Given the description of an element on the screen output the (x, y) to click on. 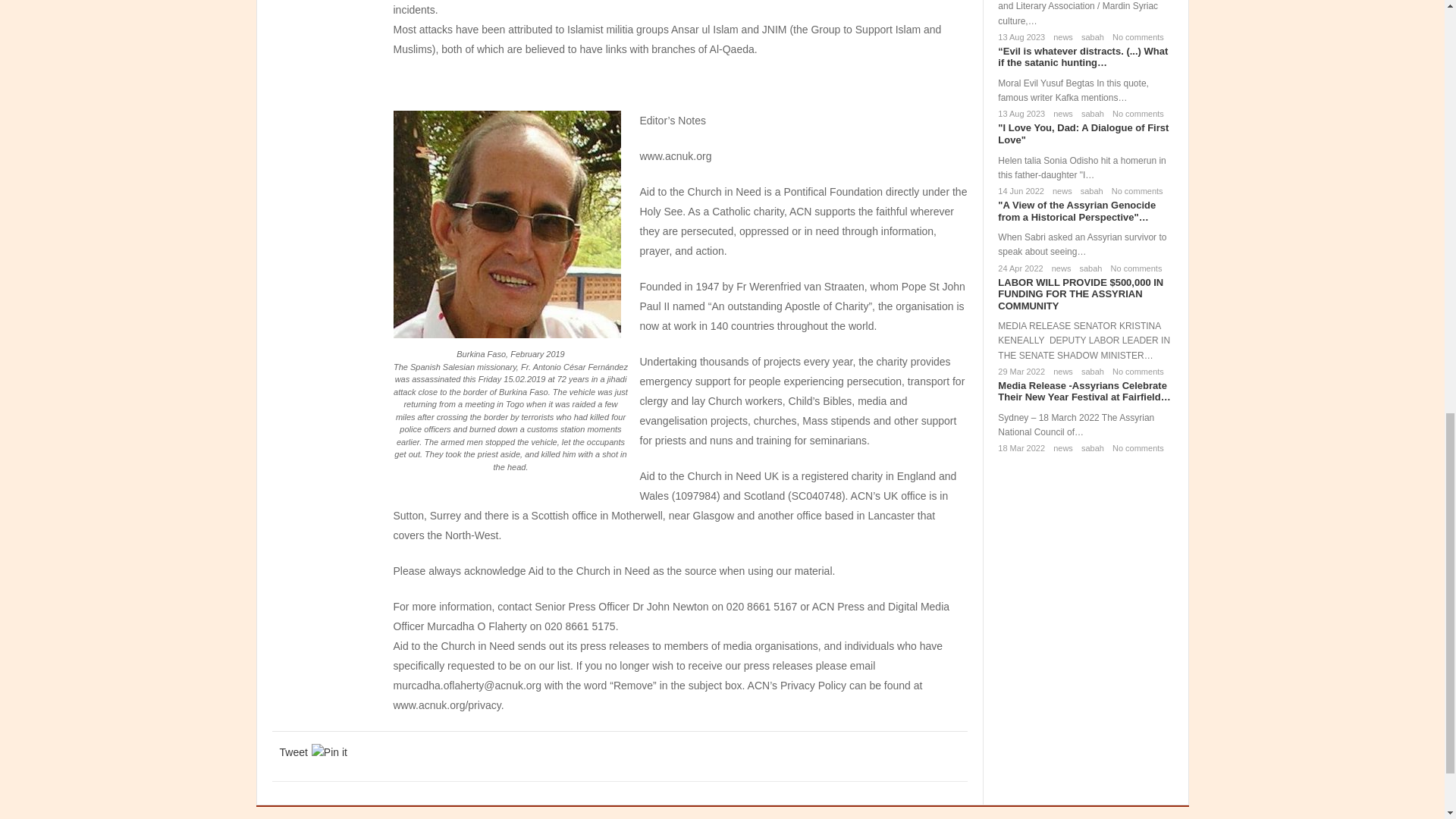
Pin it (329, 751)
Tweet (293, 751)
I Love You, Dad: A Dialogue of First Love (1083, 133)
